Given the description of an element on the screen output the (x, y) to click on. 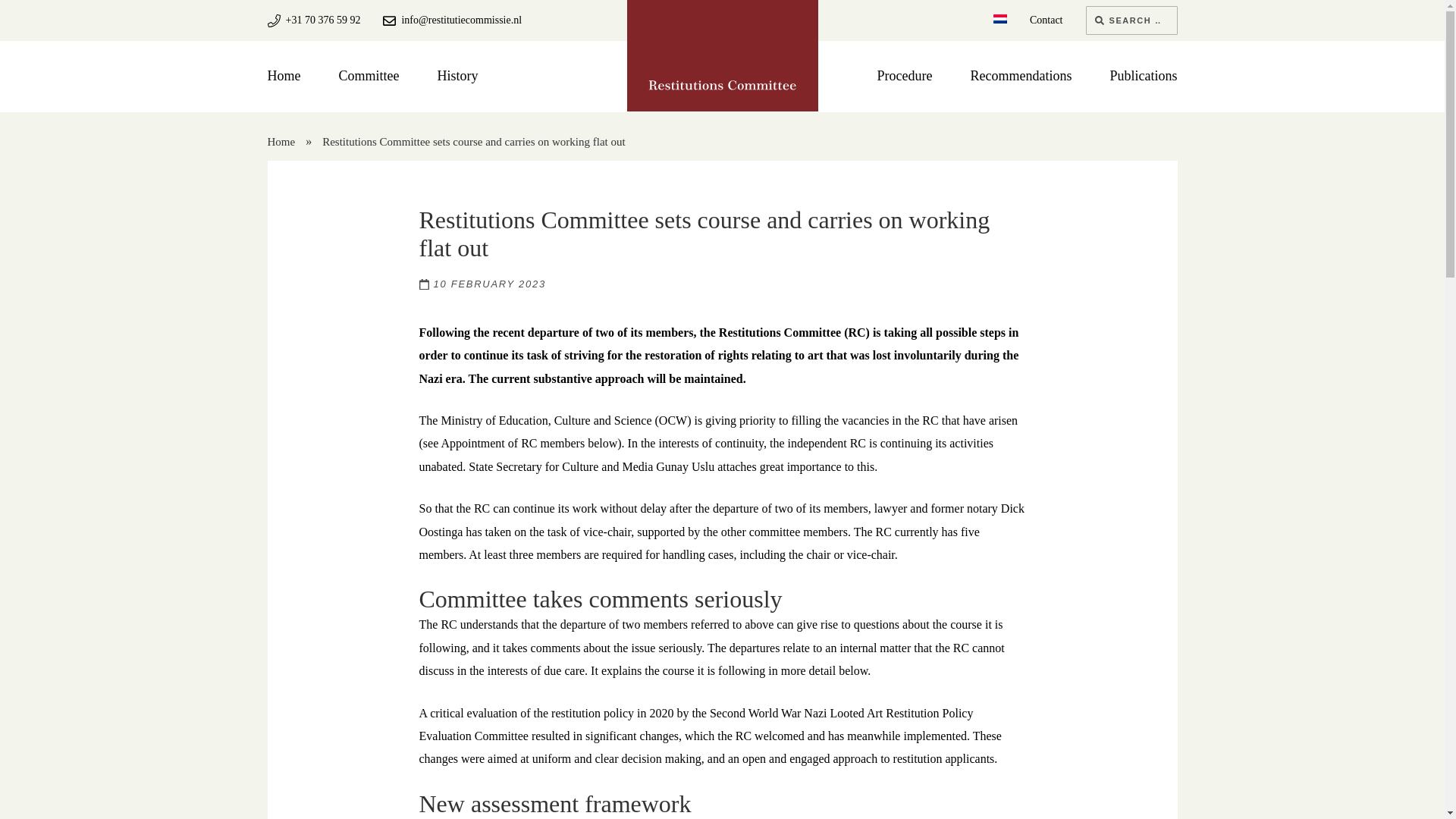
Search (1098, 20)
Recommendations (1021, 75)
Search (1098, 20)
Search (1098, 20)
Contact (1045, 20)
Home (284, 141)
Publications (1143, 75)
Home Restitutiecommissie (721, 85)
